Given the description of an element on the screen output the (x, y) to click on. 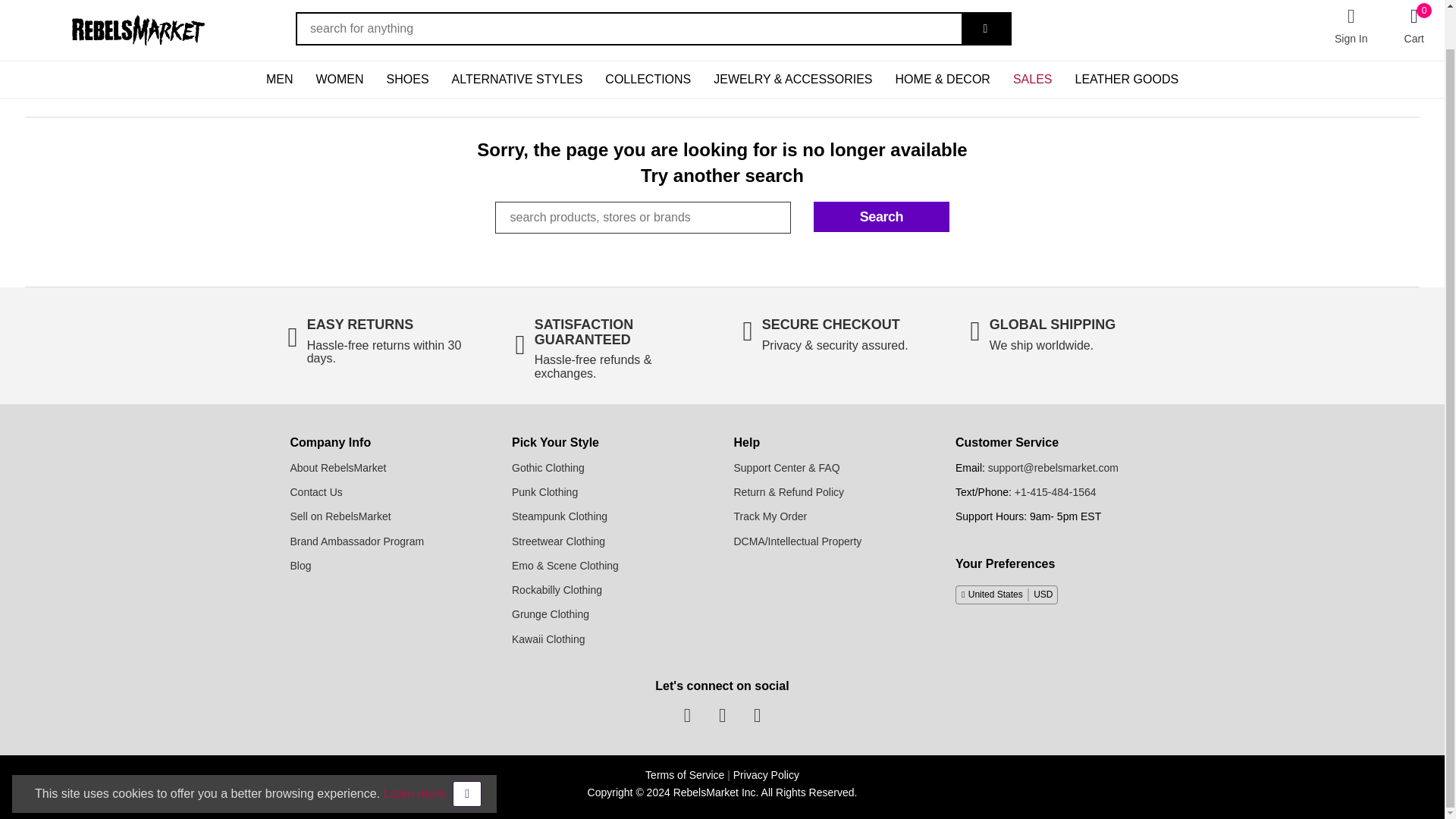
MEN (280, 78)
About Us  (337, 467)
Contact Us (315, 491)
WOMEN (338, 78)
Sign In (1351, 25)
